Given the description of an element on the screen output the (x, y) to click on. 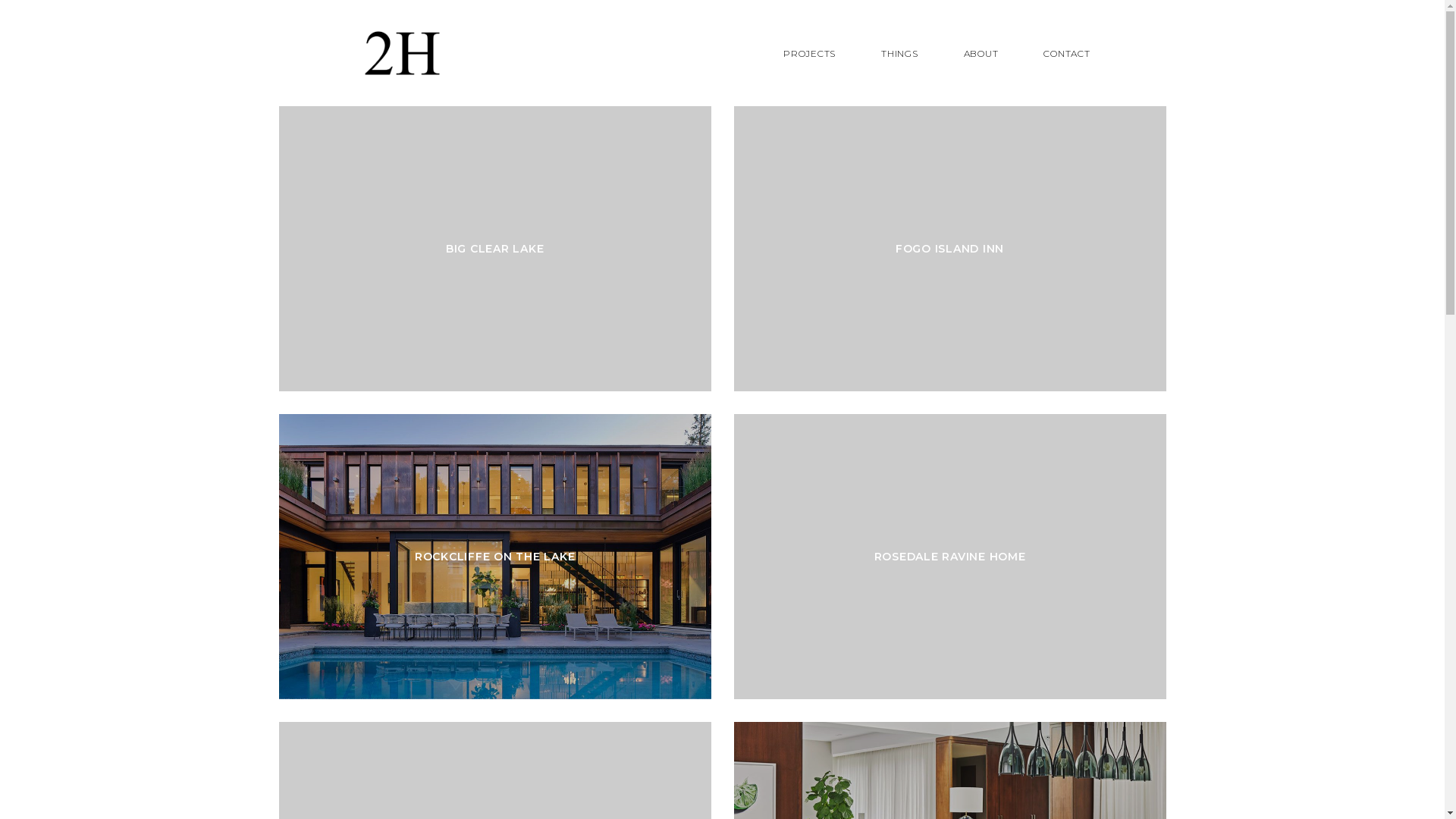
PROJECTS Element type: text (809, 53)
FOGO ISLAND INN Element type: text (950, 248)
ROCKCLIFFE ON THE LAKE Element type: text (495, 556)
ABOUT Element type: text (980, 53)
ROSEDALE RAVINE HOME Element type: text (950, 556)
CONTACT Element type: text (1066, 53)
THINGS Element type: text (899, 53)
BIG CLEAR LAKE Element type: text (495, 248)
